Given the description of an element on the screen output the (x, y) to click on. 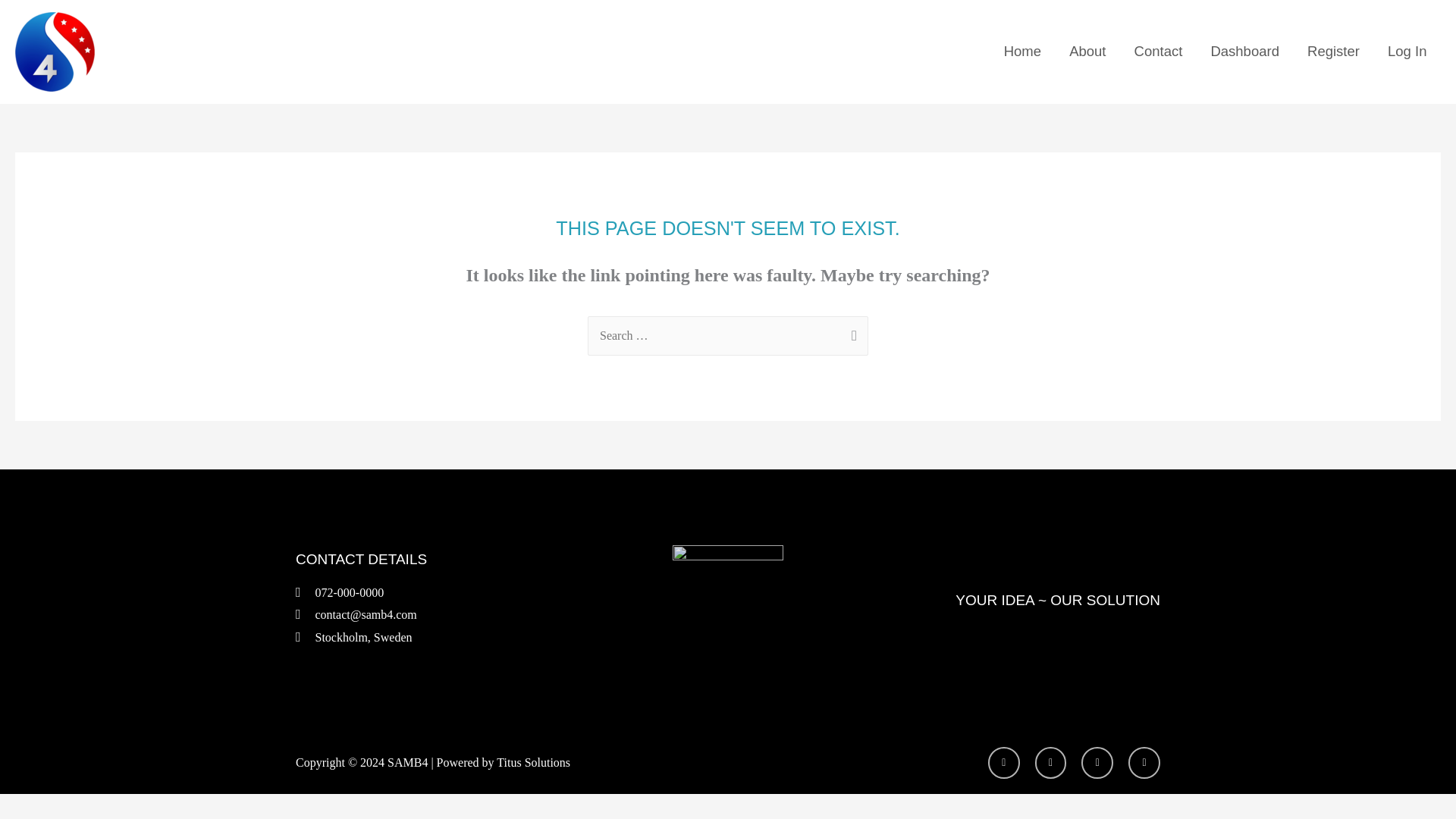
Log In (1407, 51)
About (1087, 51)
Home (1022, 51)
072-000-0000 (439, 592)
Register (1334, 51)
Contact (1157, 51)
Stockholm, Sweden (439, 637)
Search (850, 333)
Dashboard (1245, 51)
Search (850, 333)
Search (850, 333)
